Given the description of an element on the screen output the (x, y) to click on. 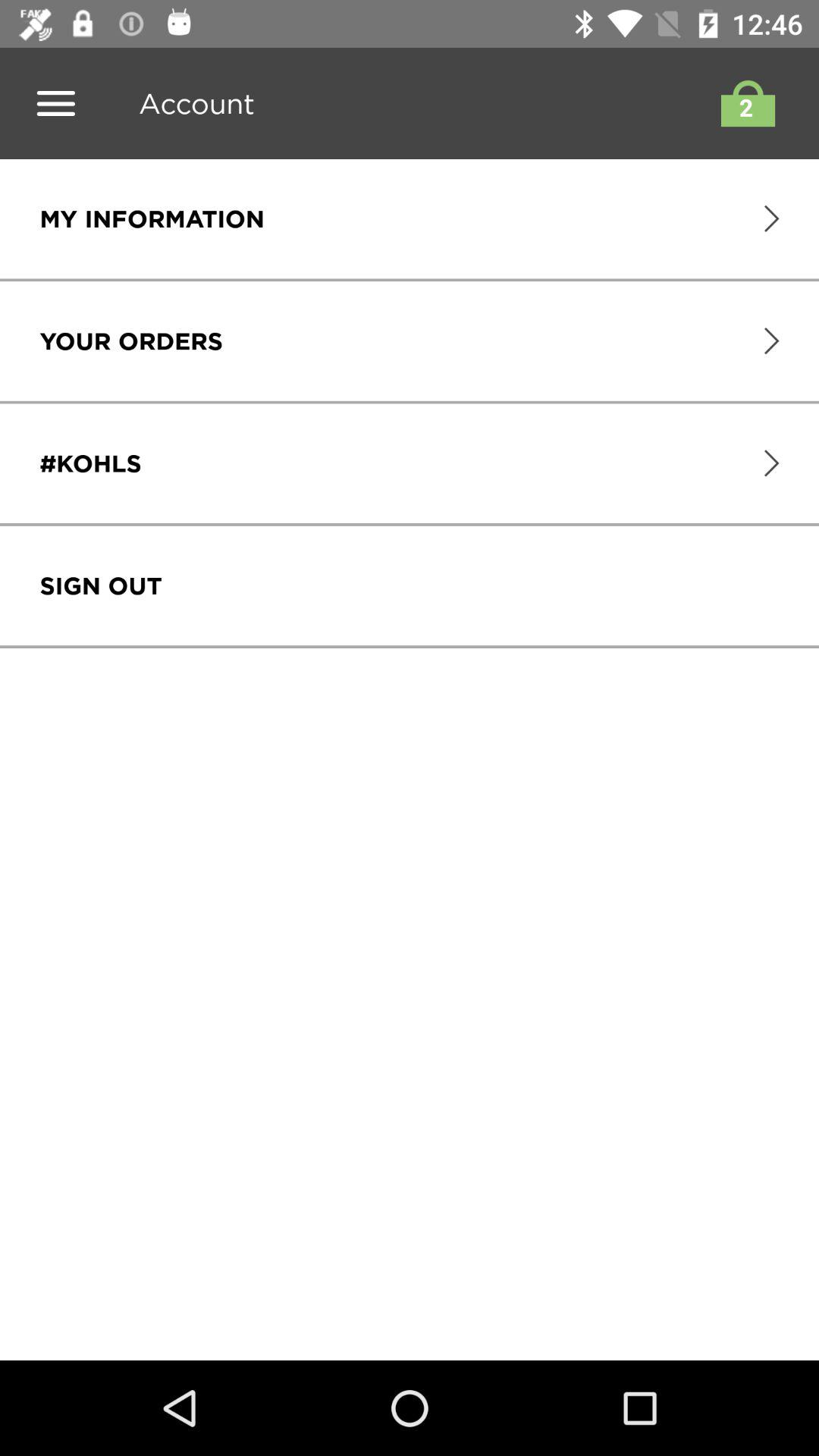
launch the sign out (100, 585)
